Given the description of an element on the screen output the (x, y) to click on. 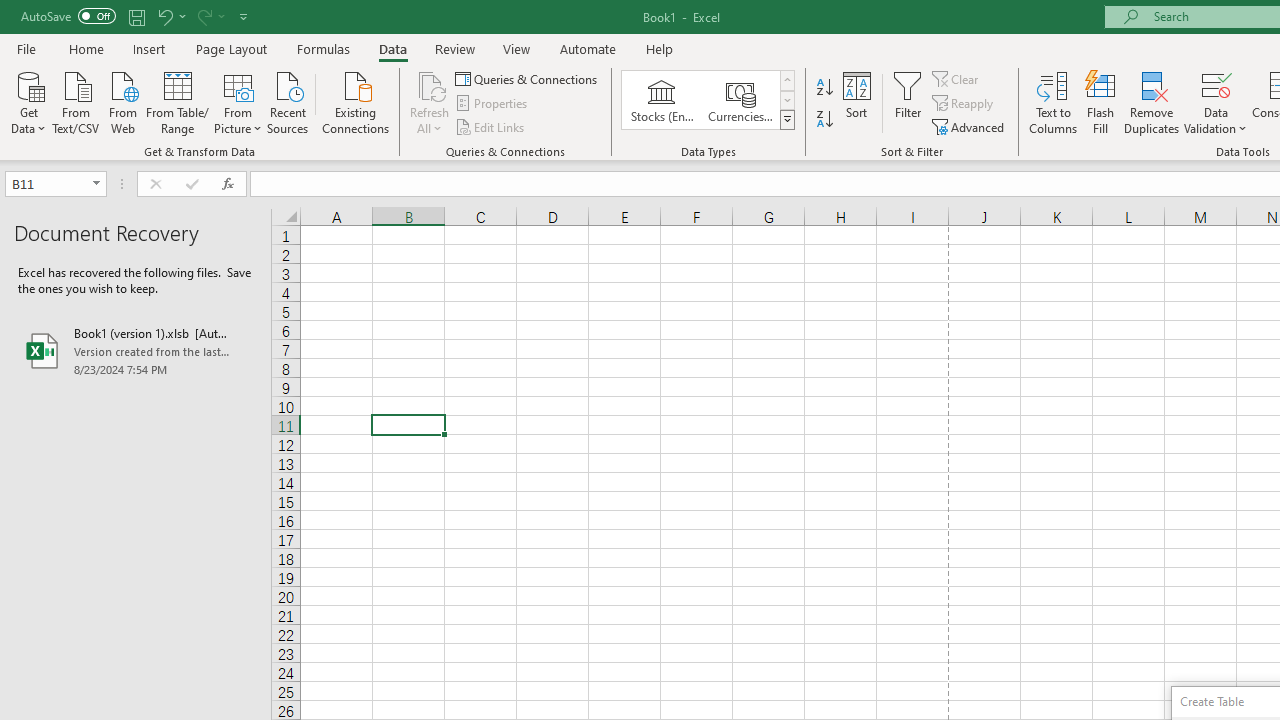
From Web (122, 101)
Book1 (version 1).xlsb  [AutoRecovered] (136, 350)
From Picture (238, 101)
Filter (908, 102)
Data Validation... (1215, 102)
Currencies (English) (740, 100)
Text to Columns... (1053, 102)
Stocks (English) (662, 100)
Properties (492, 103)
